Given the description of an element on the screen output the (x, y) to click on. 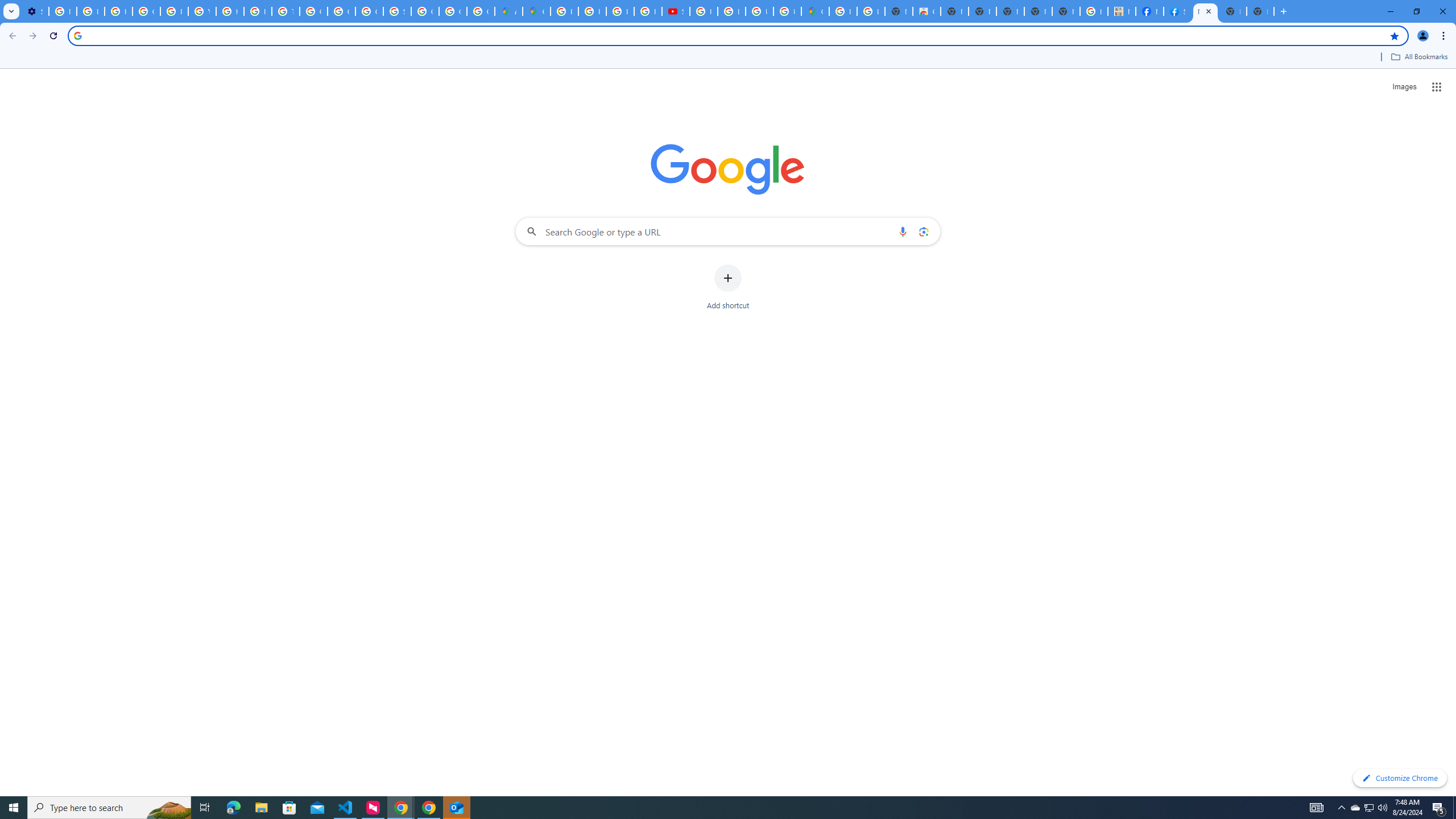
Add shortcut (727, 287)
Privacy Help Center - Policies Help (620, 11)
Privacy Help Center - Policies Help (174, 11)
Sign in - Google Accounts (397, 11)
Blogger Policies and Guidelines - Transparency Center (564, 11)
